Given the description of an element on the screen output the (x, y) to click on. 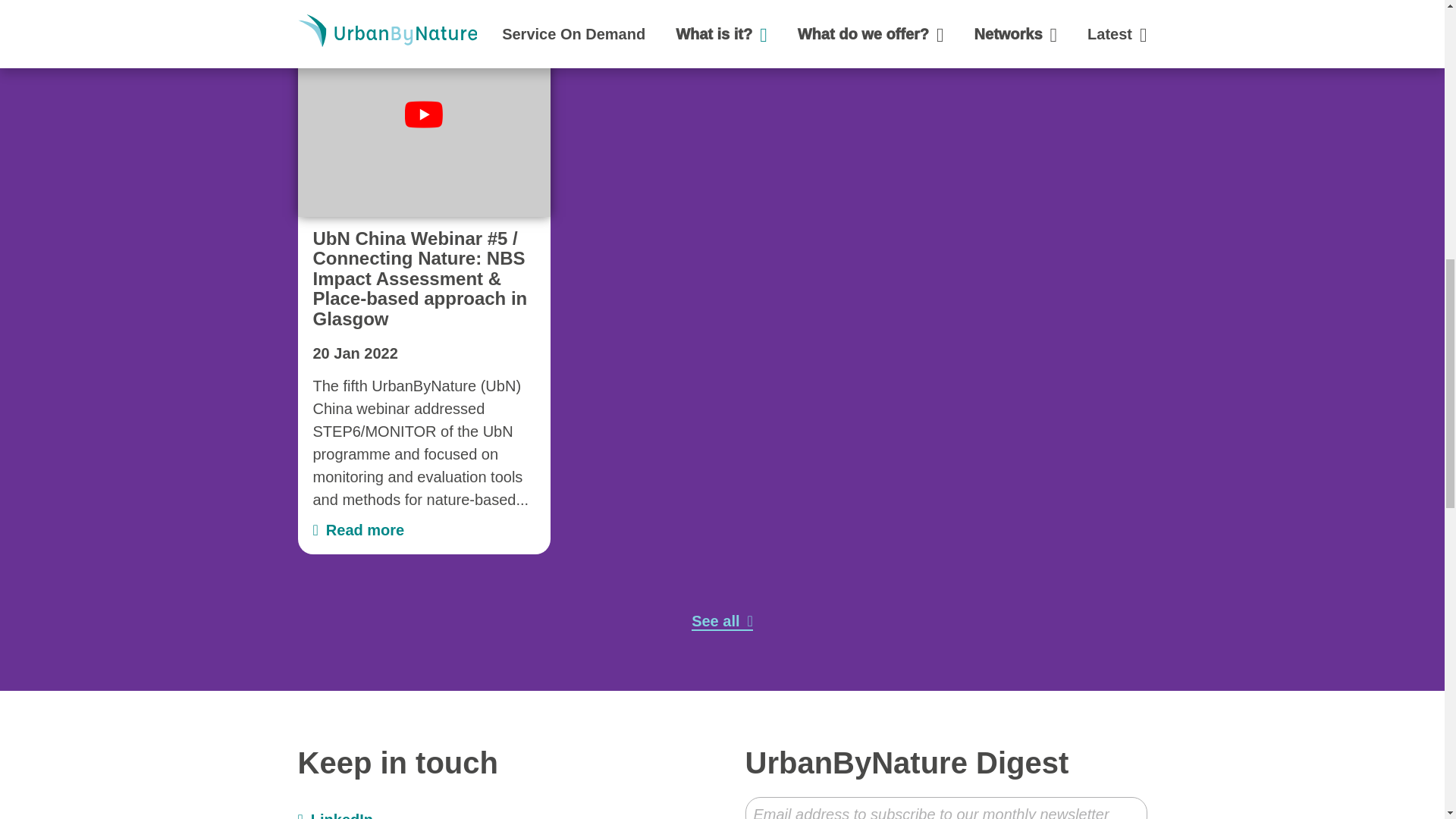
LinkedIn (334, 815)
See all (721, 621)
